Given the description of an element on the screen output the (x, y) to click on. 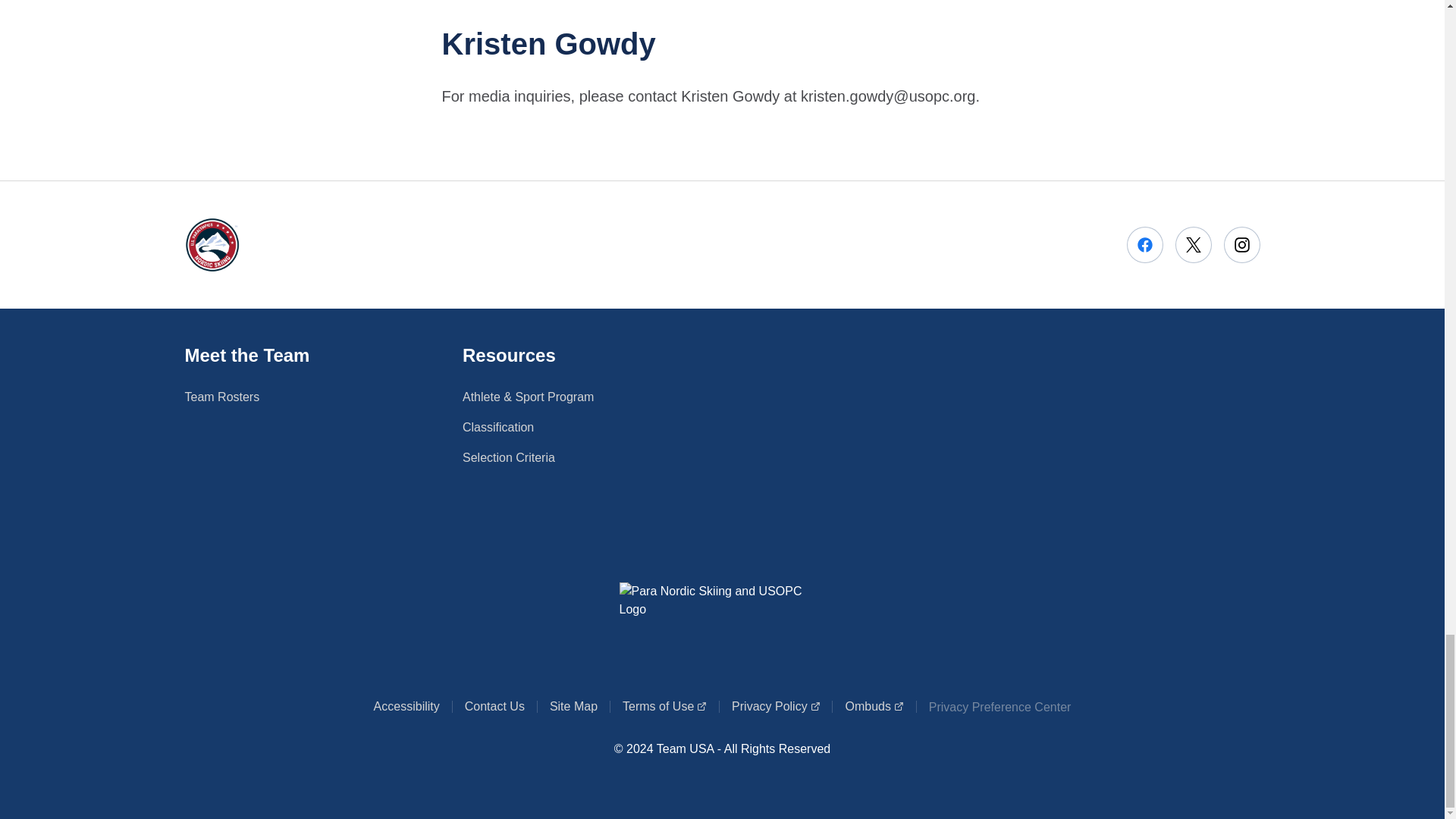
Accessibility (406, 706)
Classification (498, 427)
Go to Twitter (1192, 244)
Selection Criteria (508, 457)
Contact Us (494, 706)
Go to Facebook (664, 706)
Team Rosters (775, 706)
Go to Instagram (1144, 244)
